Given the description of an element on the screen output the (x, y) to click on. 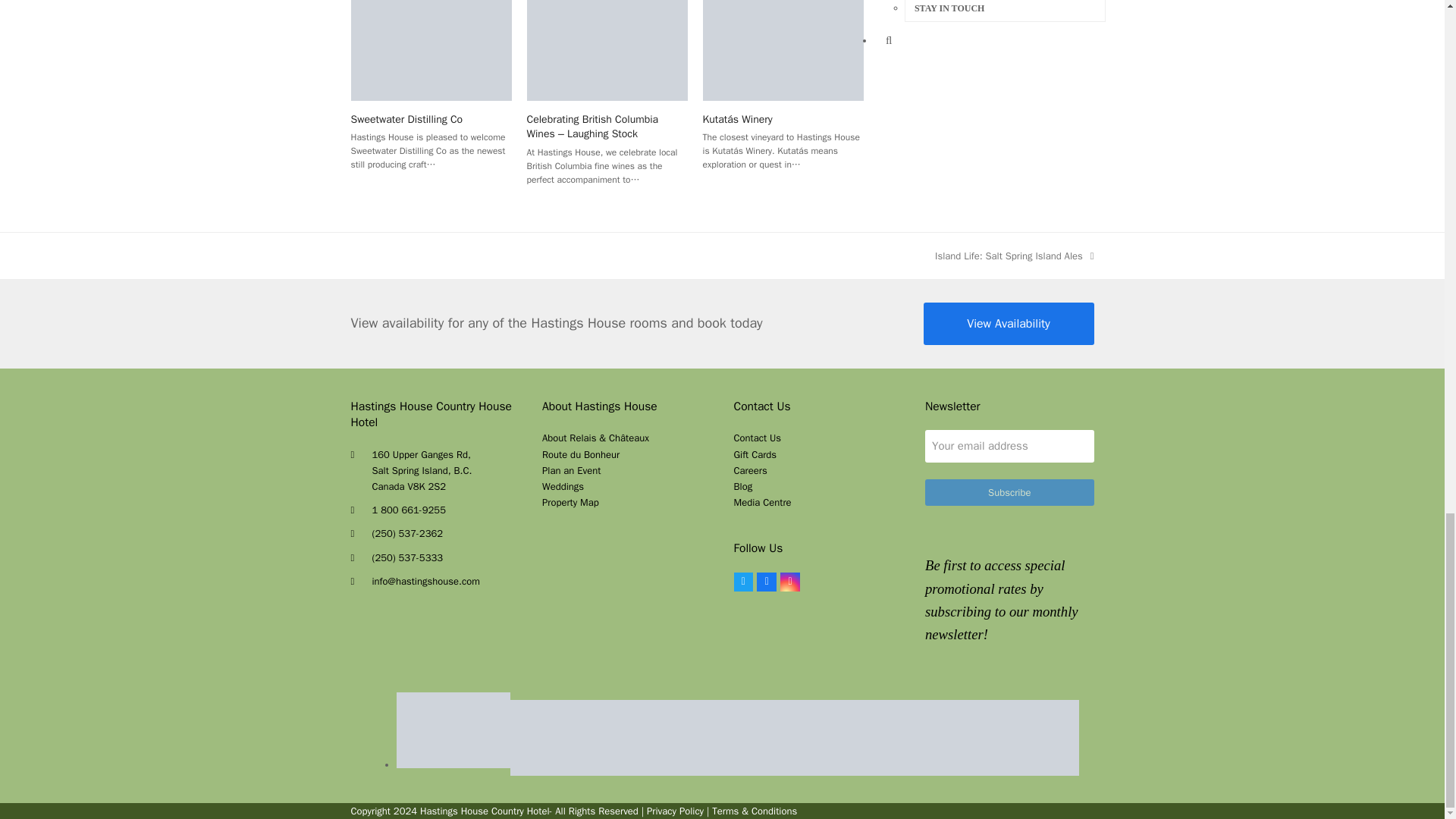
Facebook (766, 582)
Instagram (789, 582)
Sweetwater Distilling Co (430, 45)
Twitter (743, 582)
Subscribe (1009, 492)
